Given the description of an element on the screen output the (x, y) to click on. 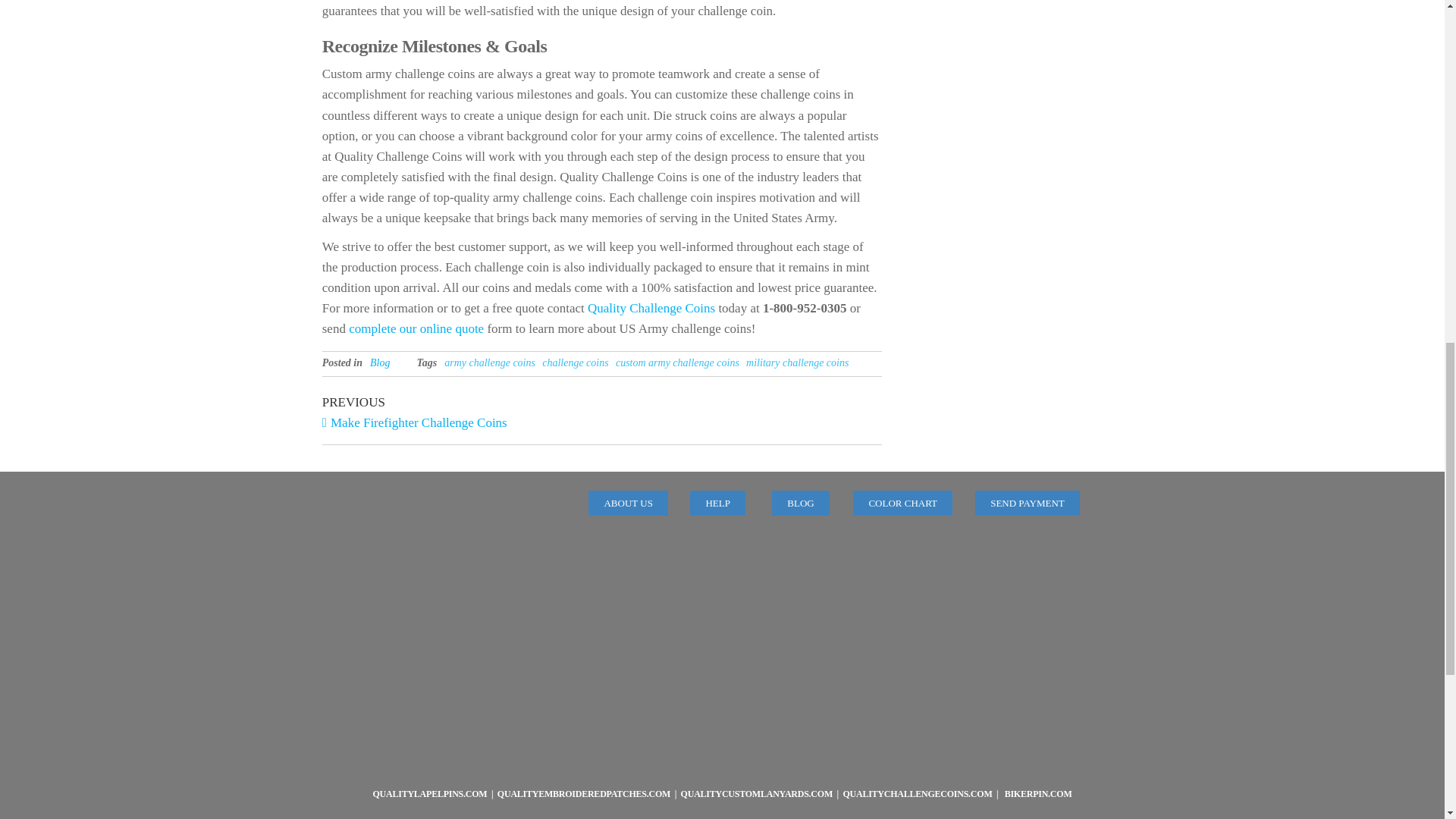
army challenge coins (489, 362)
custom army challenge coins (677, 362)
Blog (379, 362)
Quality Challenge Coins (651, 308)
military challenge coins (461, 410)
challenge coins (796, 362)
complete our online quote (574, 362)
